Given the description of an element on the screen output the (x, y) to click on. 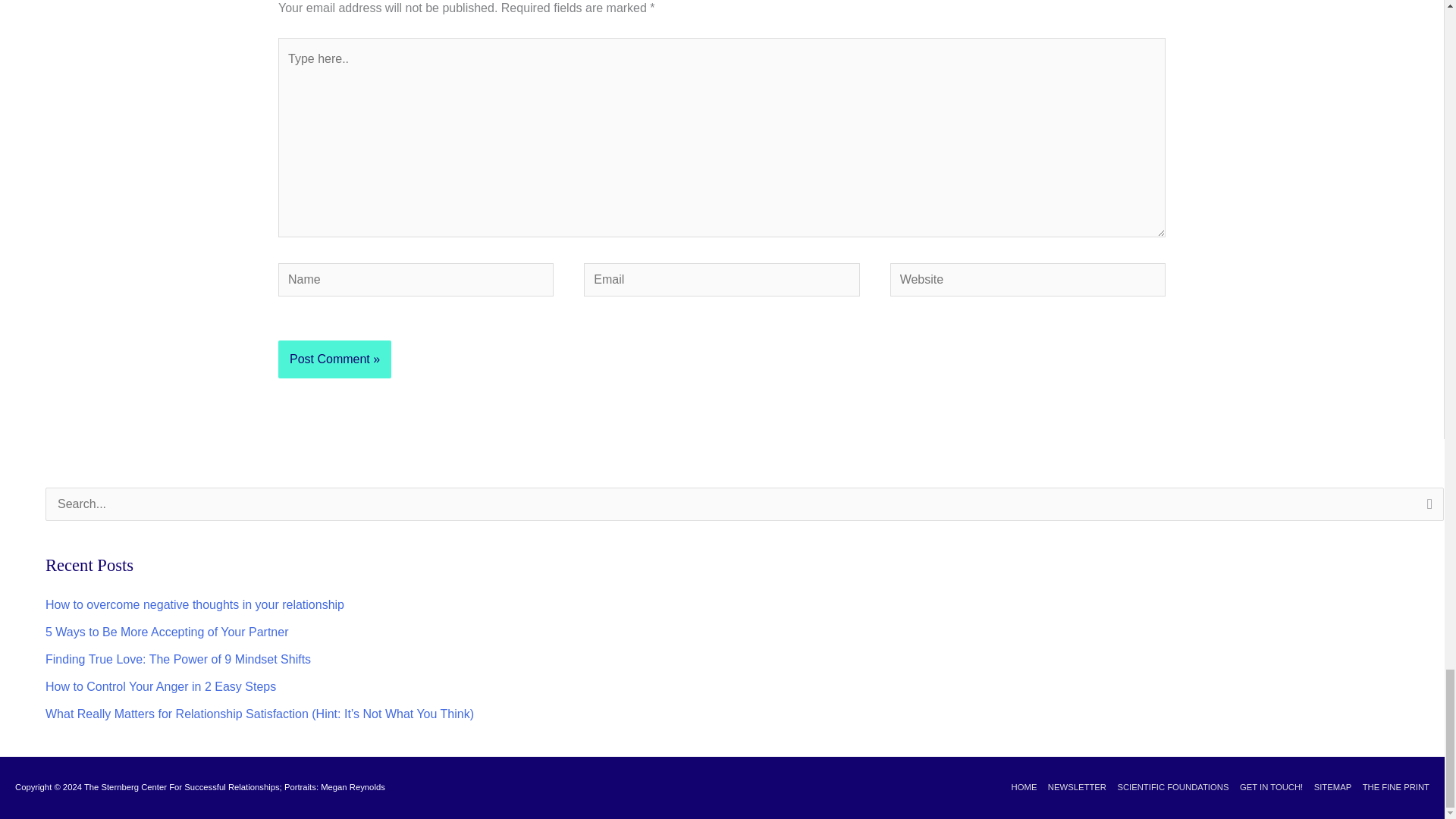
HOME (1019, 786)
How to Control Your Anger in 2 Easy Steps (160, 686)
SITEMAP (1327, 786)
SCIENTIFIC FOUNDATIONS (1168, 786)
5 Ways to Be More Accepting of Your Partner (166, 631)
GET IN TOUCH! (1267, 786)
THE FINE PRINT (1391, 786)
How to overcome negative thoughts in your relationship (194, 604)
NEWSLETTER (1072, 786)
Finding True Love: The Power of 9 Mindset Shifts (178, 658)
